Given the description of an element on the screen output the (x, y) to click on. 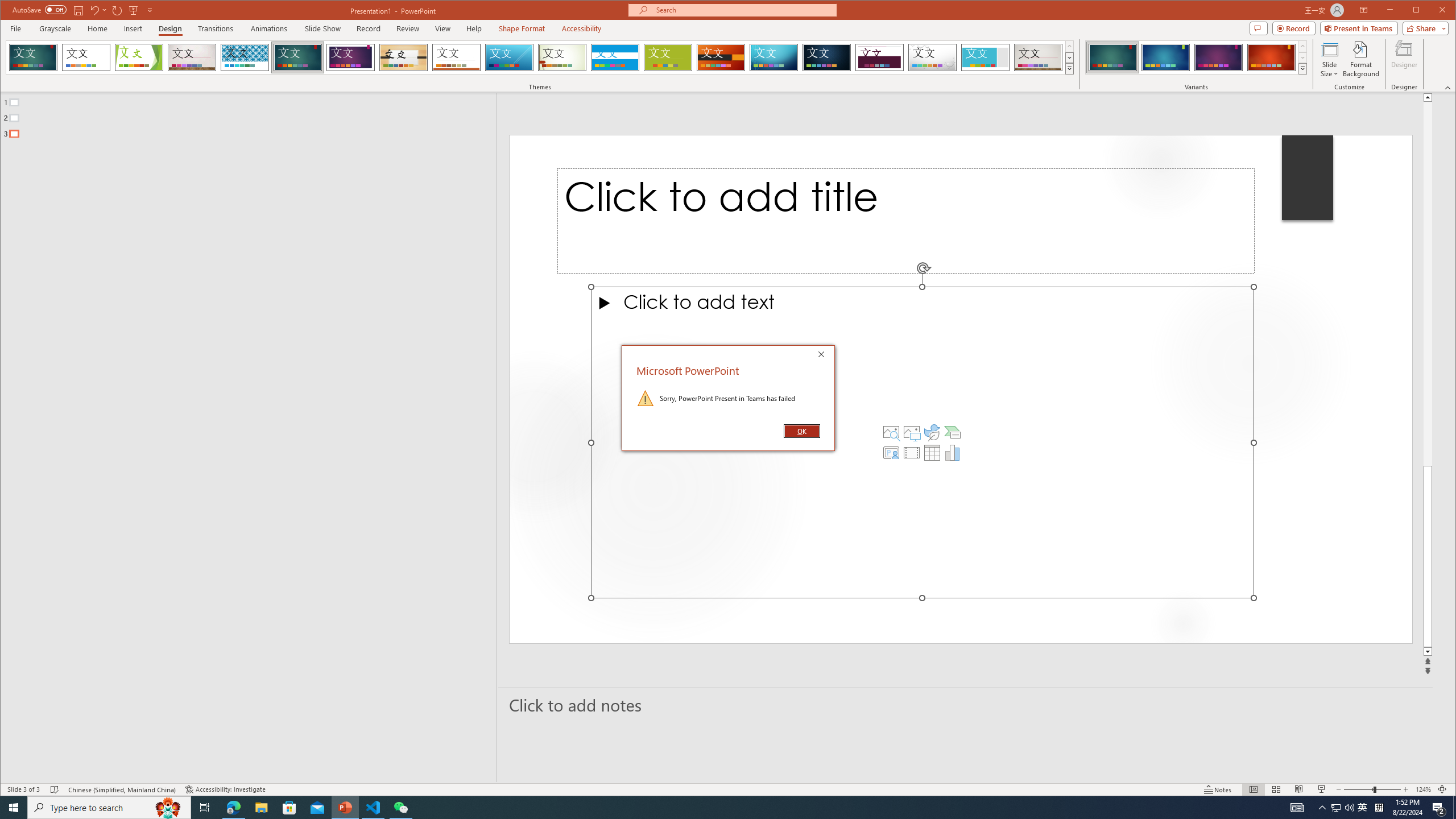
Insert Cameo (1362, 807)
WeChat - 1 running window (890, 452)
Basis (400, 807)
Q2790: 100% (668, 57)
Page up (1349, 807)
Grayscale (1427, 283)
Maximize (55, 28)
Rectangle (1432, 11)
Show desktop (242, 436)
